Given the description of an element on the screen output the (x, y) to click on. 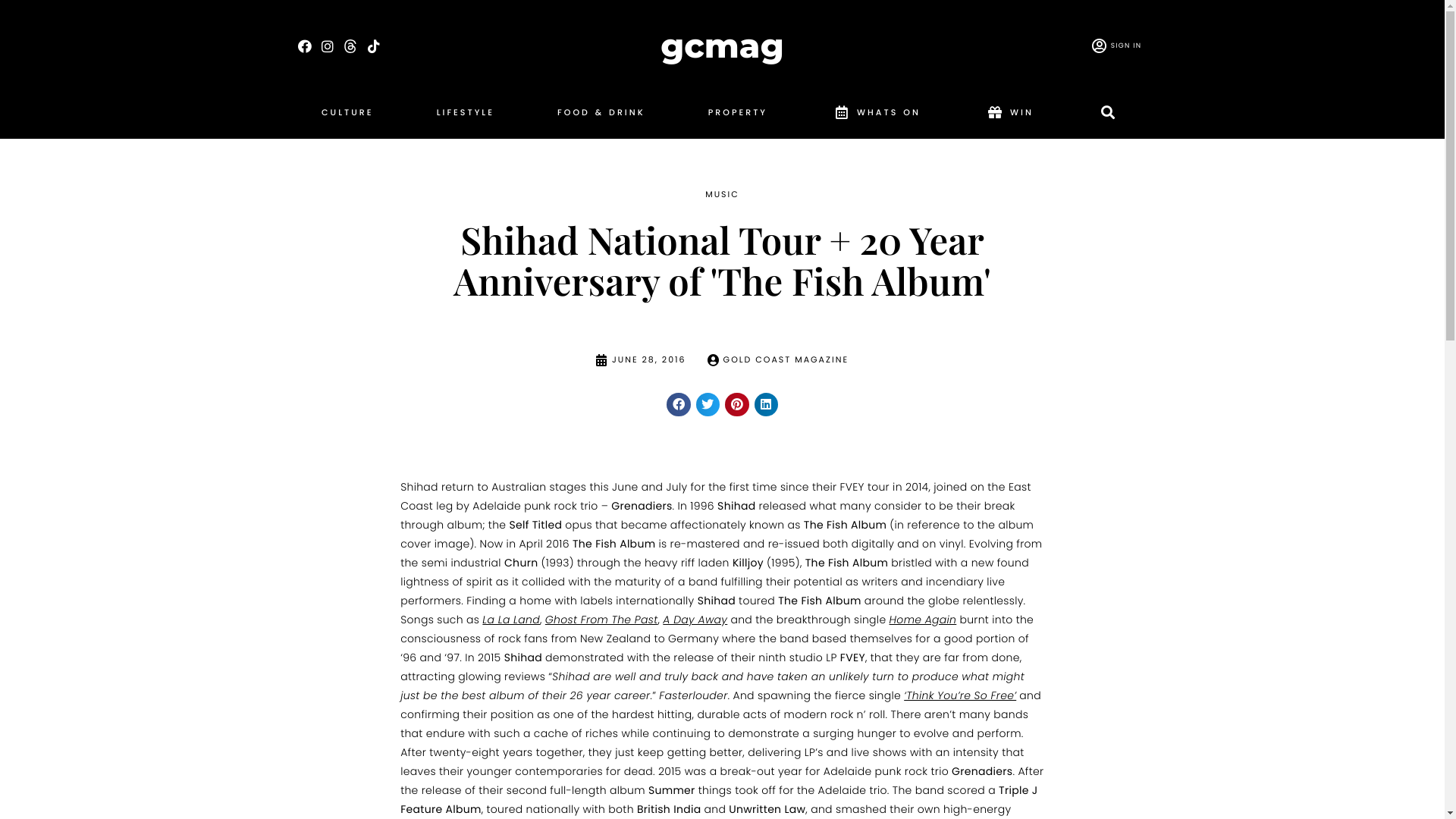
Ghost From The Past Element type: text (601, 619)
Home Again Element type: text (923, 619)
MUSIC Element type: text (722, 194)
PROPERTY Element type: text (737, 115)
WIN Element type: text (1008, 115)
CULTURE Element type: text (347, 115)
A Day Away Element type: text (694, 619)
gcmag Element type: text (722, 45)
WHATS ON Element type: text (875, 115)
La La Land Element type: text (510, 619)
LIFESTYLE Element type: text (465, 115)
SIGN IN Element type: text (1114, 46)
FOOD & DRINK Element type: text (601, 115)
